Given the description of an element on the screen output the (x, y) to click on. 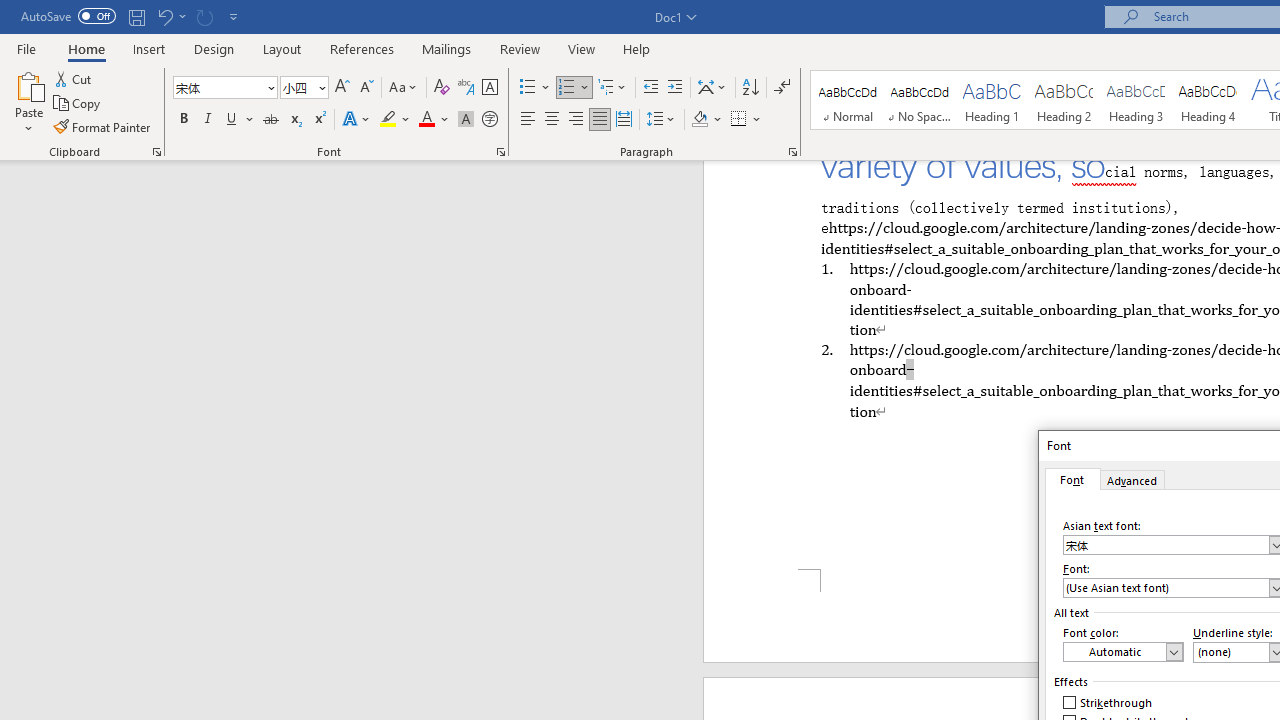
Justify (599, 119)
Enclose Characters... (489, 119)
Distributed (623, 119)
Text Effects and Typography (357, 119)
Borders (746, 119)
Font Size (304, 87)
Line and Paragraph Spacing (661, 119)
Text Highlight Color (395, 119)
Heading 3 (1135, 100)
